Given the description of an element on the screen output the (x, y) to click on. 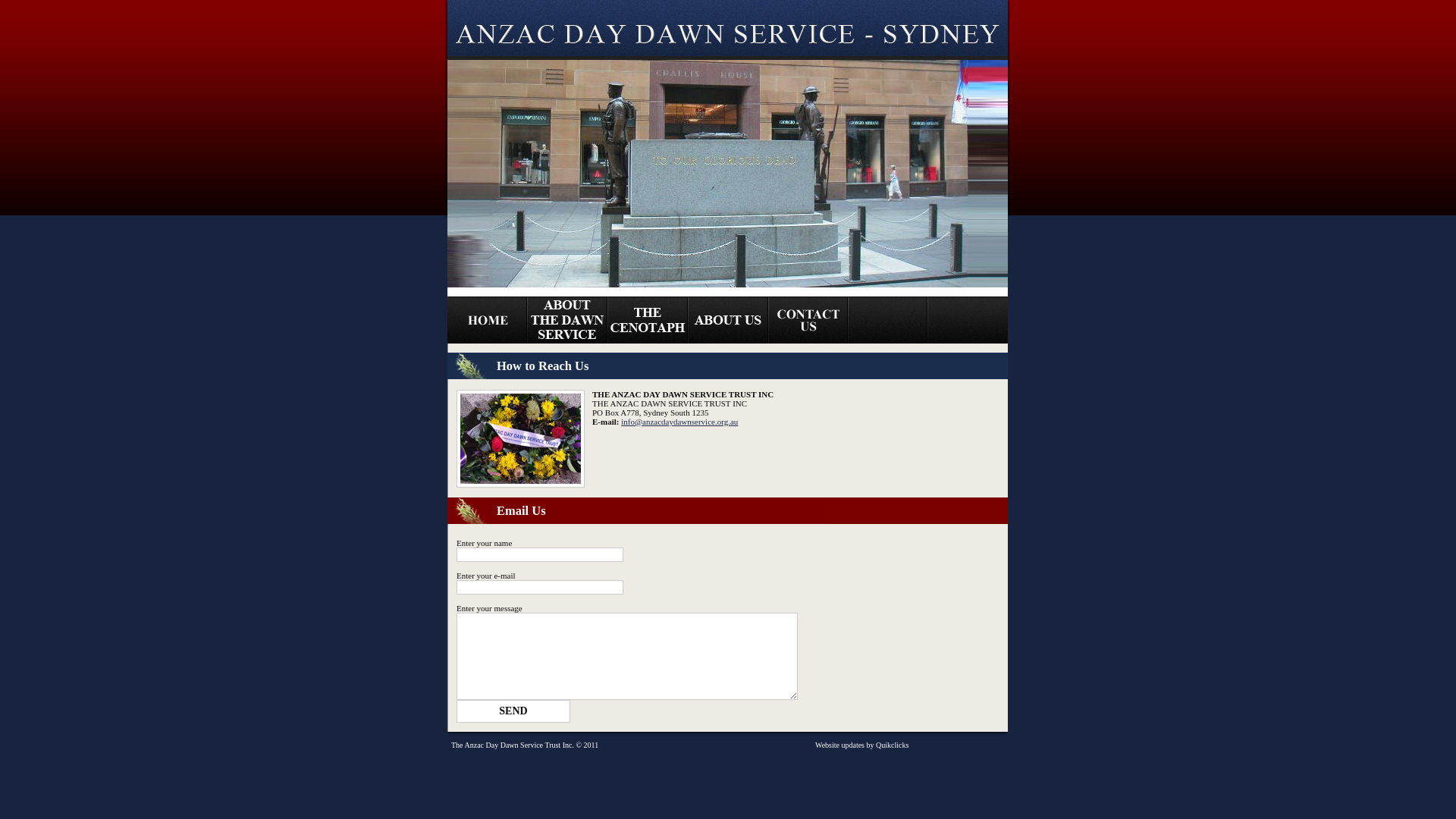
info@anzacdaydawnservice.org.au Element type: text (679, 421)
Website updates by Quikclicks Element type: text (861, 744)
SEND Element type: text (513, 710)
